Given the description of an element on the screen output the (x, y) to click on. 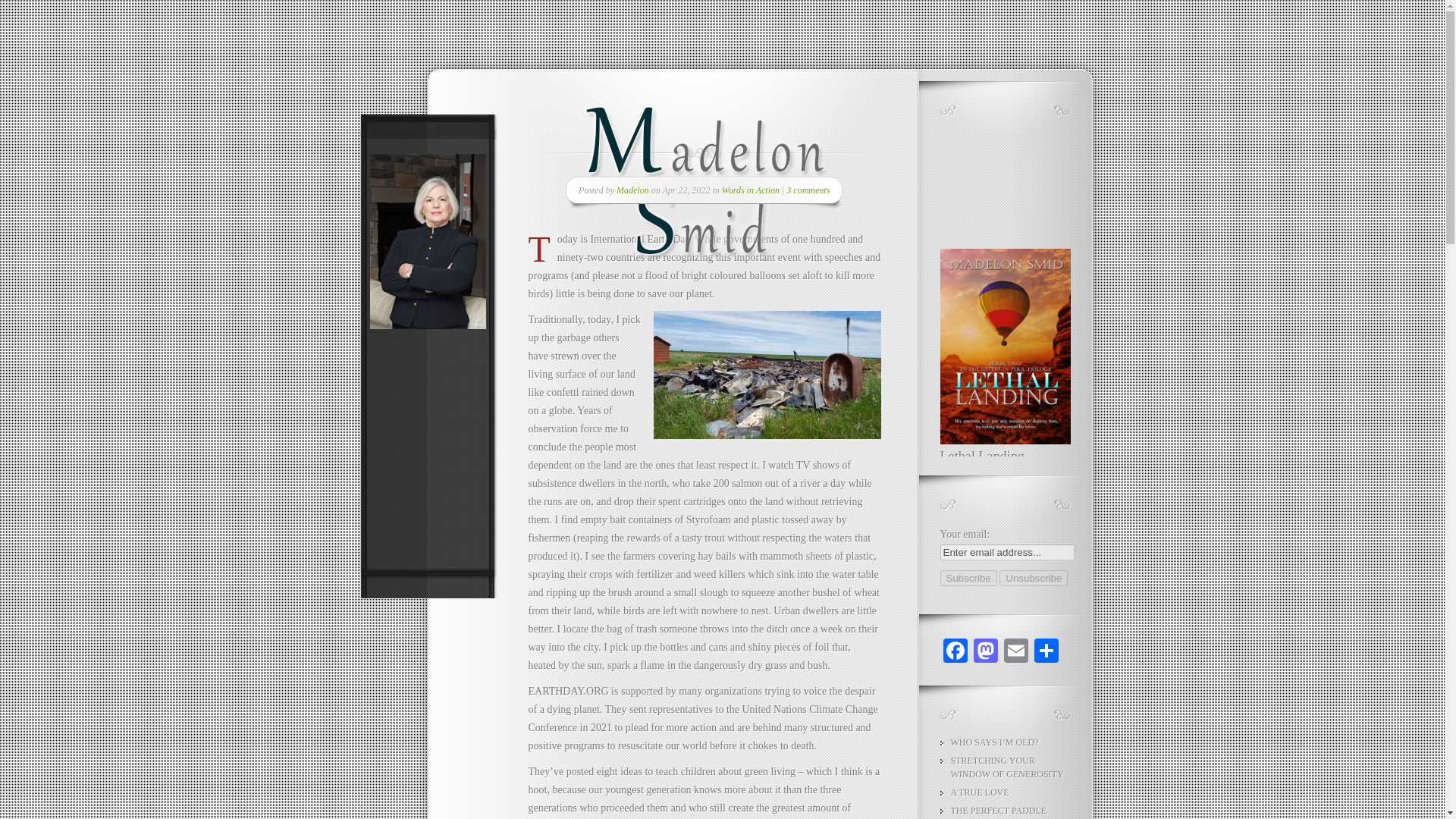
Unsubscribe (1032, 578)
Words in Action (750, 190)
3 comments (807, 190)
Posts by Madelon (632, 190)
Enter email address... (1007, 552)
Subscribe (968, 578)
Madelon (632, 190)
